Given the description of an element on the screen output the (x, y) to click on. 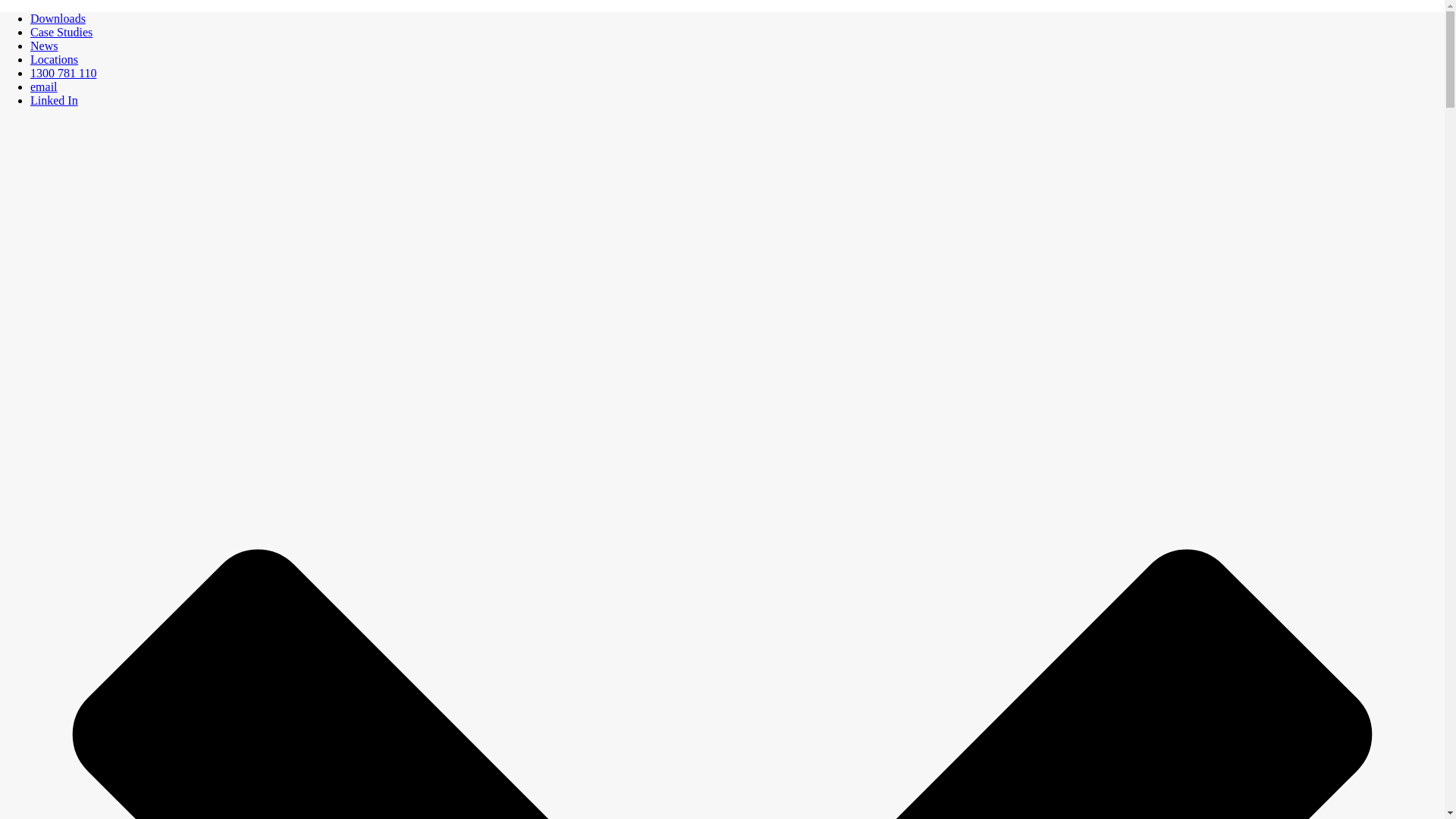
Locations Element type: text (54, 59)
News Element type: text (43, 45)
Linked In Element type: text (54, 100)
1300 781 110 Element type: text (63, 72)
Case Studies Element type: text (61, 31)
Downloads Element type: text (57, 18)
email Element type: text (43, 86)
